Given the description of an element on the screen output the (x, y) to click on. 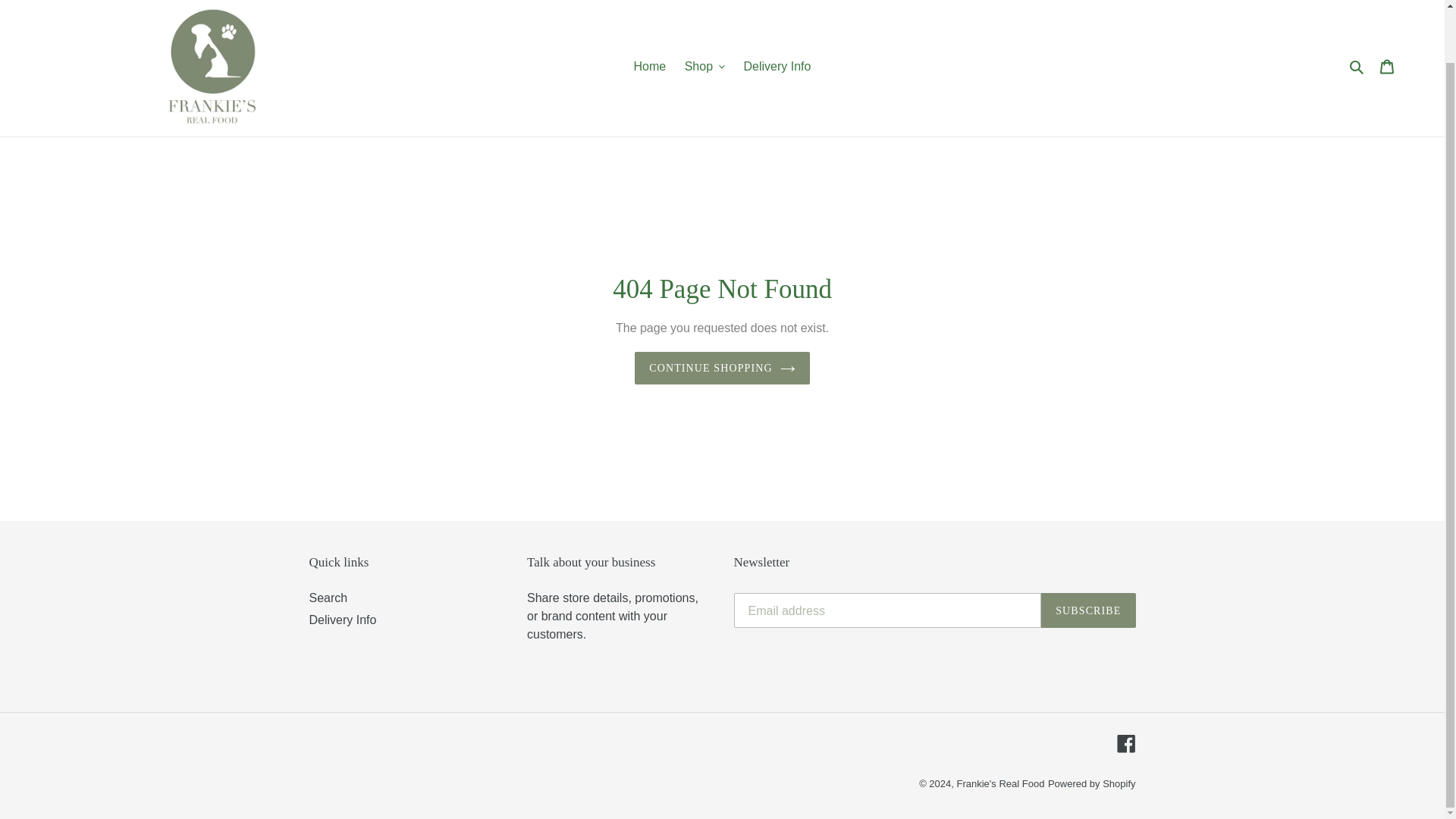
Delivery Info (777, 66)
Home (650, 66)
Search (1357, 66)
Shop (704, 66)
Cart (1387, 65)
